Given the description of an element on the screen output the (x, y) to click on. 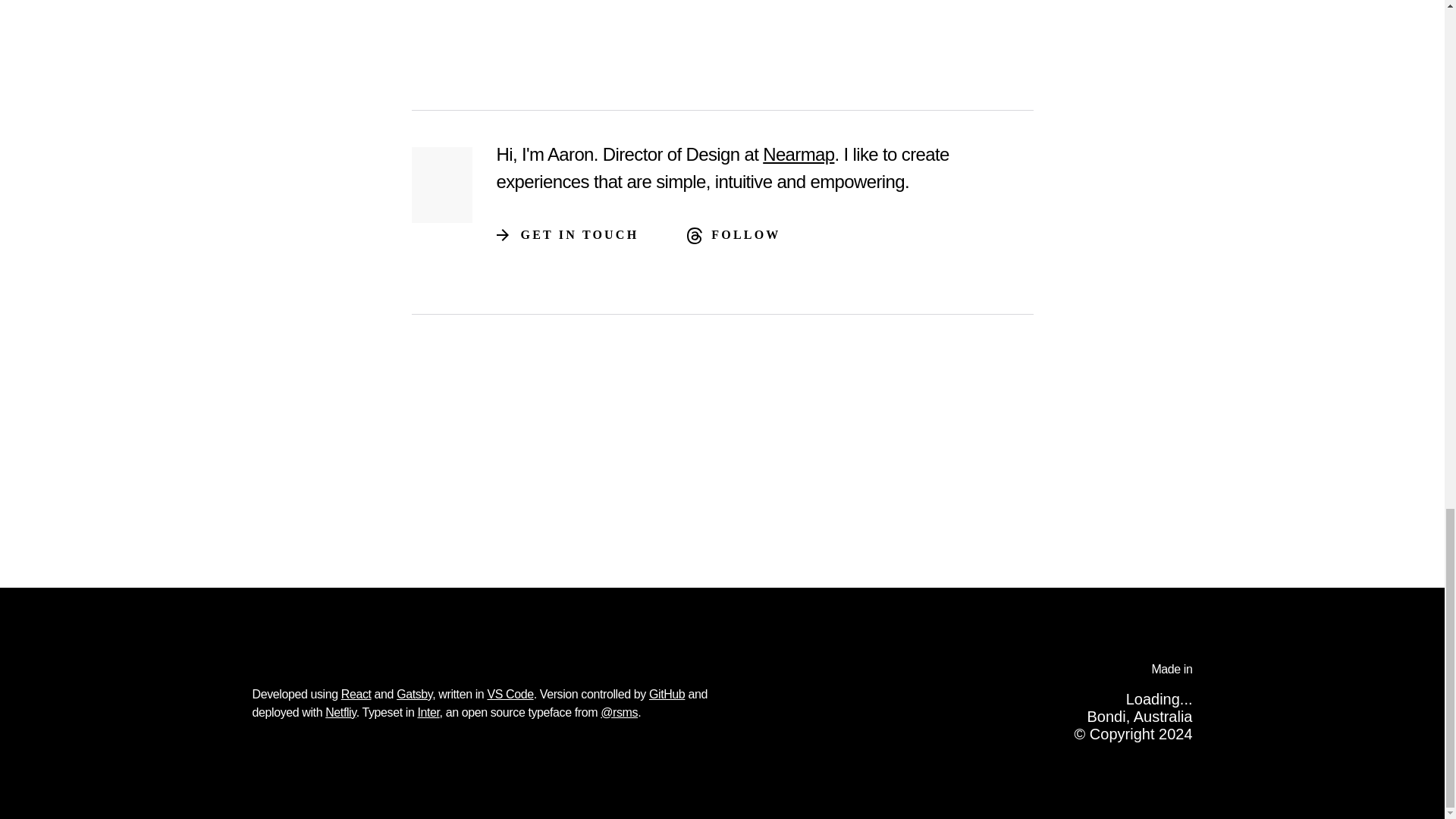
Gatsby (414, 694)
Nearmap (798, 154)
Netfliy (339, 712)
GitHub (666, 694)
React (355, 694)
GET IN TOUCH (579, 234)
FOLLOW (746, 234)
Inter (427, 712)
VS Code (509, 694)
